Given the description of an element on the screen output the (x, y) to click on. 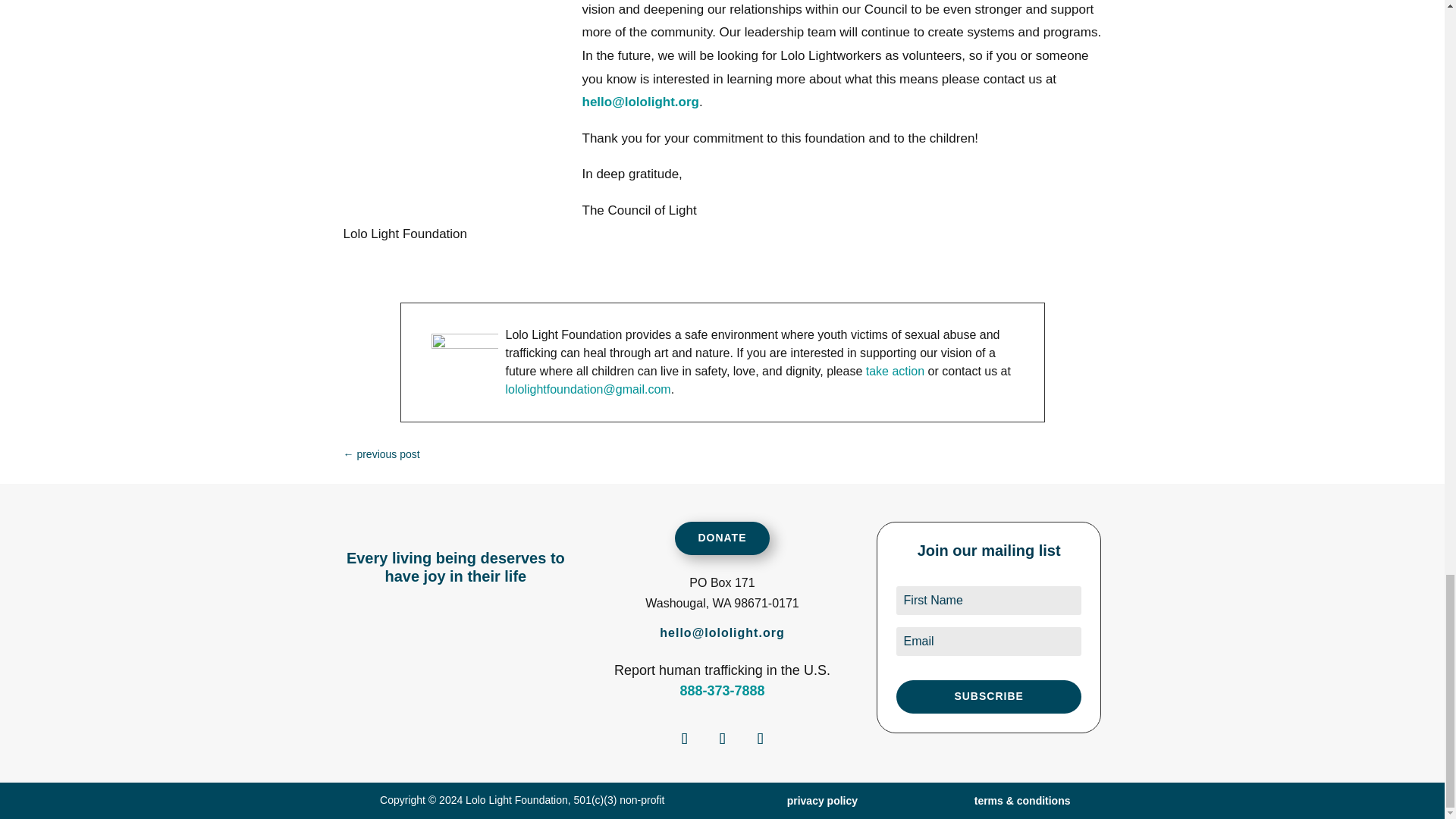
Follow on Facebook (684, 738)
privacy policy (822, 800)
888-373-7888 (721, 690)
Follow on Youtube (760, 738)
take action (895, 370)
Follow on Instagram (722, 738)
DONATE (721, 538)
SUBSCRIBE (988, 696)
